Given the description of an element on the screen output the (x, y) to click on. 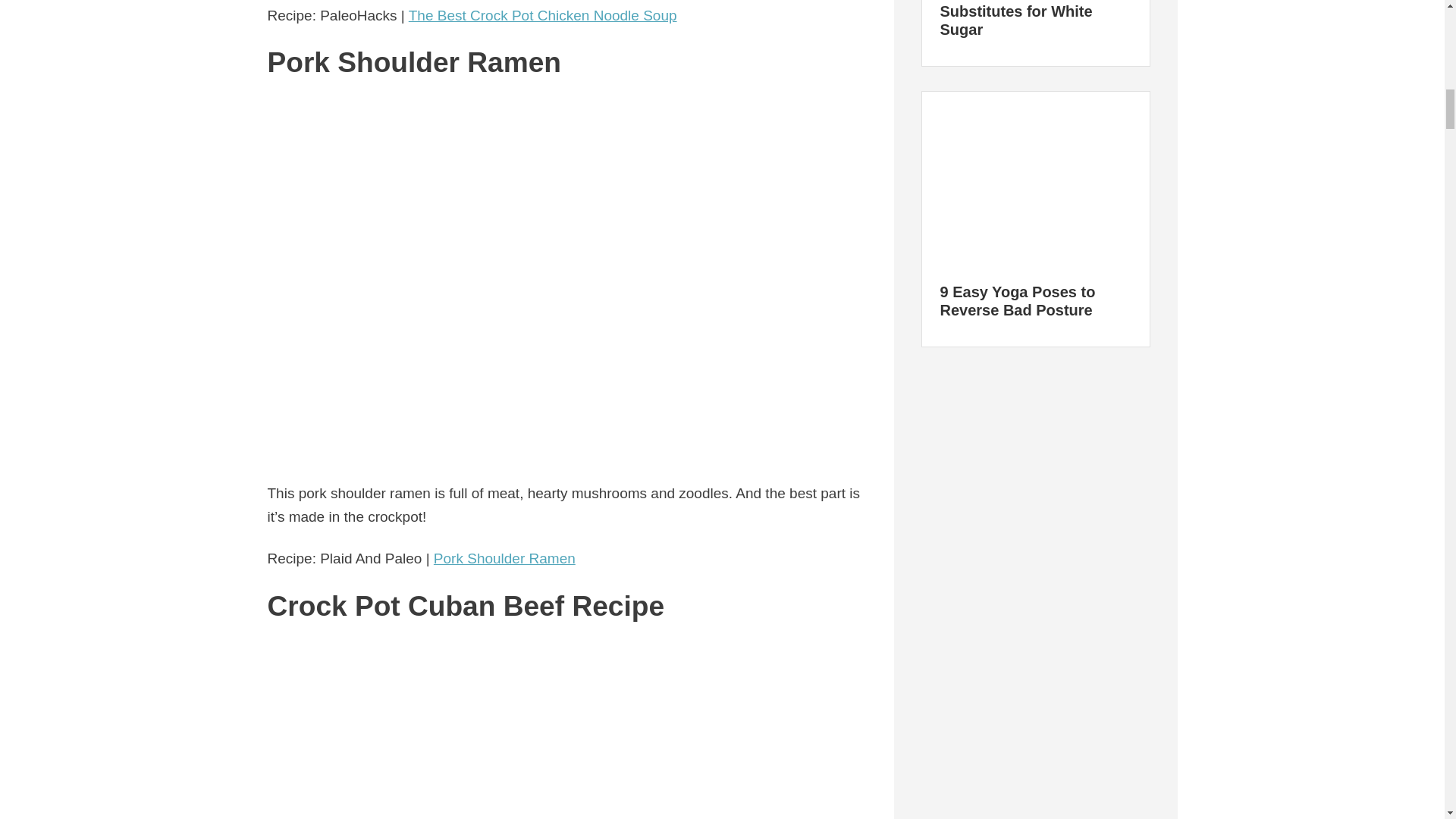
9 Easy Yoga Poses to Reverse Bad Posture (1018, 300)
The 7 Best Natural Substitutes for White Sugar (1016, 18)
9 Easy Yoga Poses to Reverse Bad Posture (1035, 179)
